Given the description of an element on the screen output the (x, y) to click on. 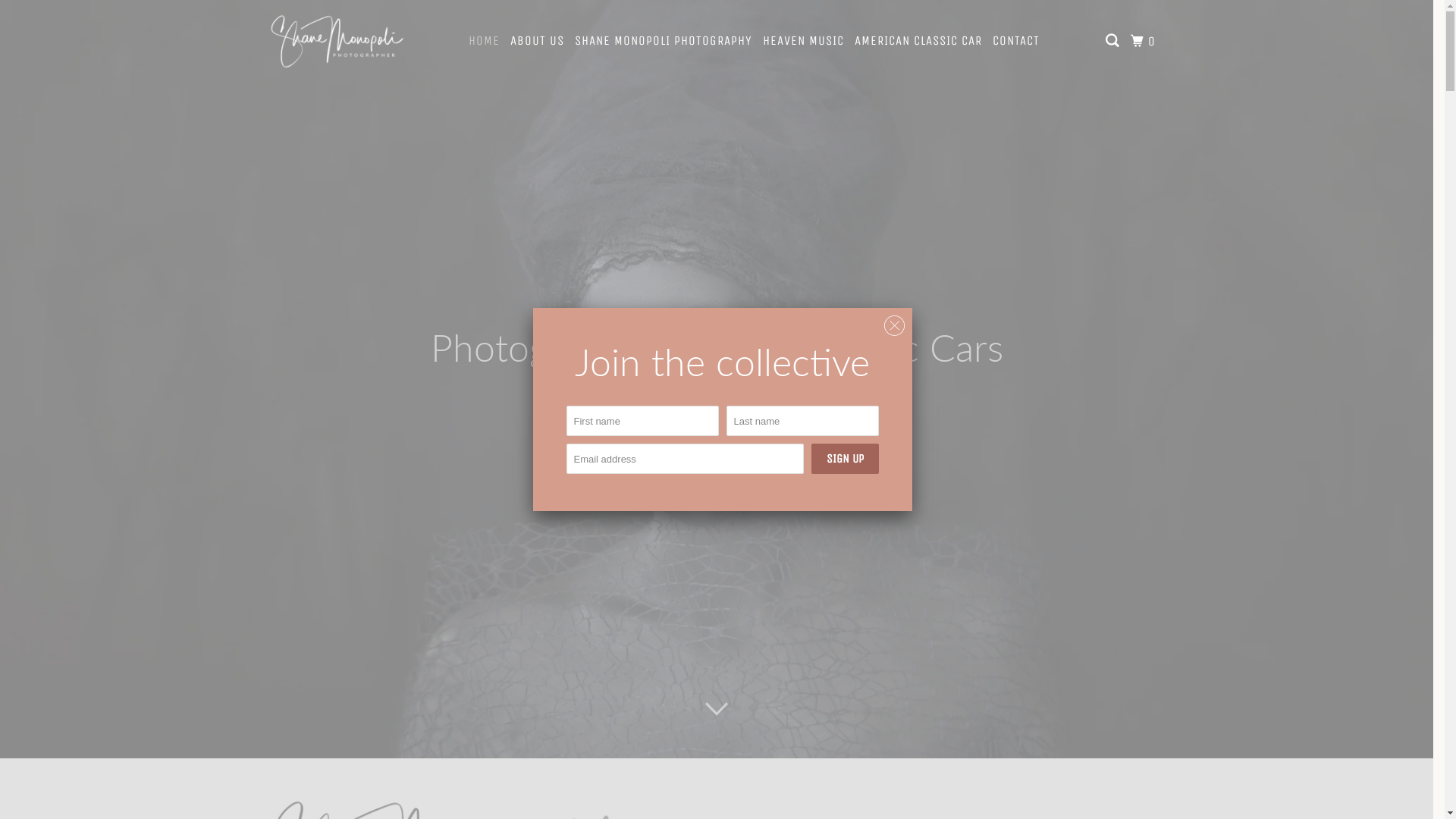
HEAVEN MUSIC Element type: text (803, 40)
ABOUT US Element type: text (537, 40)
SHANE MONOPOLI PHOTOGRAPHY Element type: text (663, 40)
Shane Monopoli Photography Element type: hover (337, 40)
Search Element type: hover (1113, 41)
0 Element type: text (1144, 41)
CONTACT Element type: text (1015, 40)
AMERICAN CLASSIC CAR Element type: text (918, 40)
Sign Up Element type: text (844, 458)
HOME Element type: text (483, 40)
Close Element type: hover (894, 325)
